Given the description of an element on the screen output the (x, y) to click on. 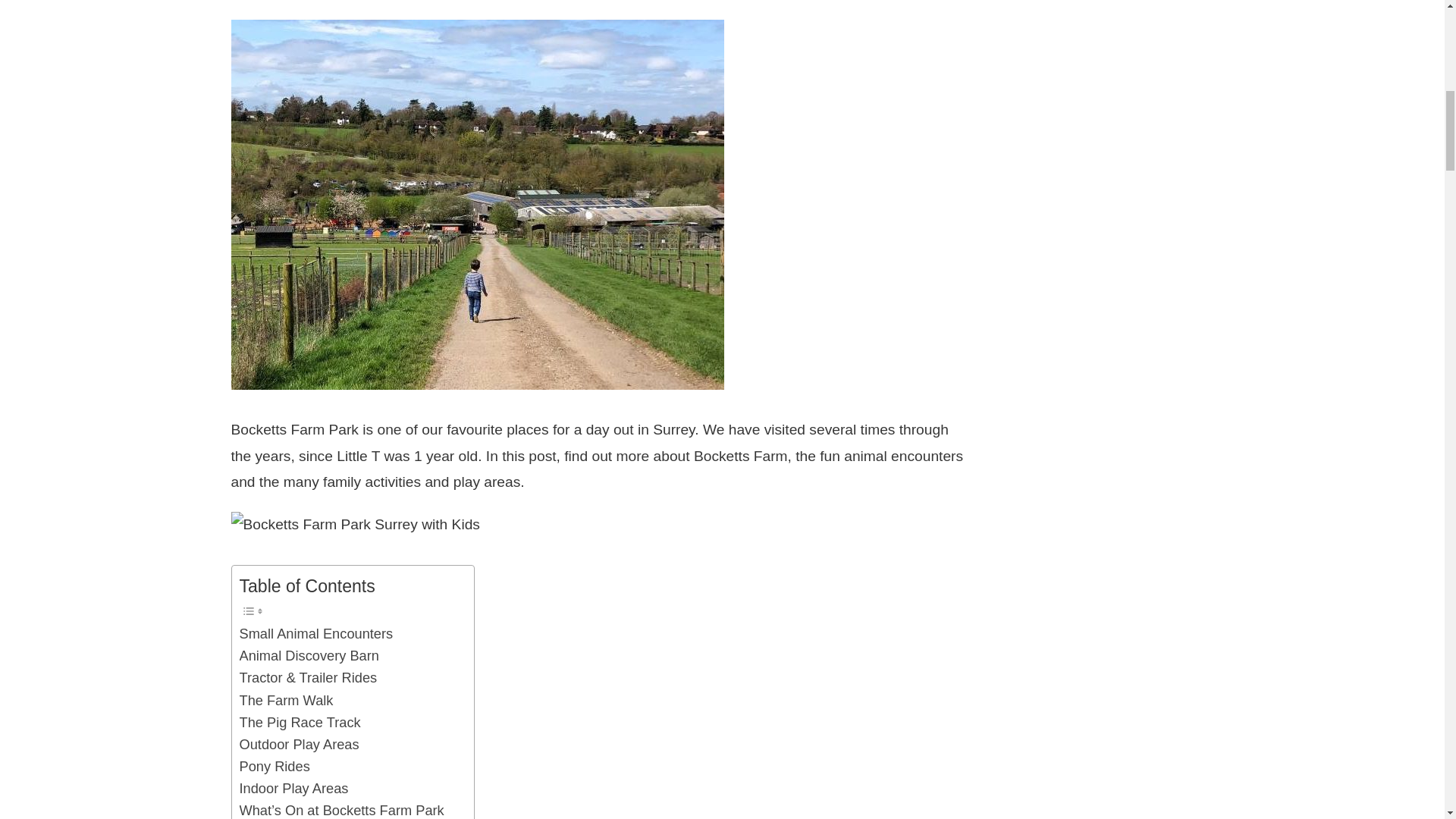
Indoor Play Areas (294, 788)
The Pig Race Track (300, 722)
Animal Discovery Barn (309, 655)
The Farm Walk (286, 700)
Outdoor Play Areas (299, 744)
Indoor Play Areas (294, 788)
The Pig Race Track (300, 722)
Outdoor Play Areas (299, 744)
Pony Rides (275, 766)
Animal Discovery Barn (309, 655)
